Given the description of an element on the screen output the (x, y) to click on. 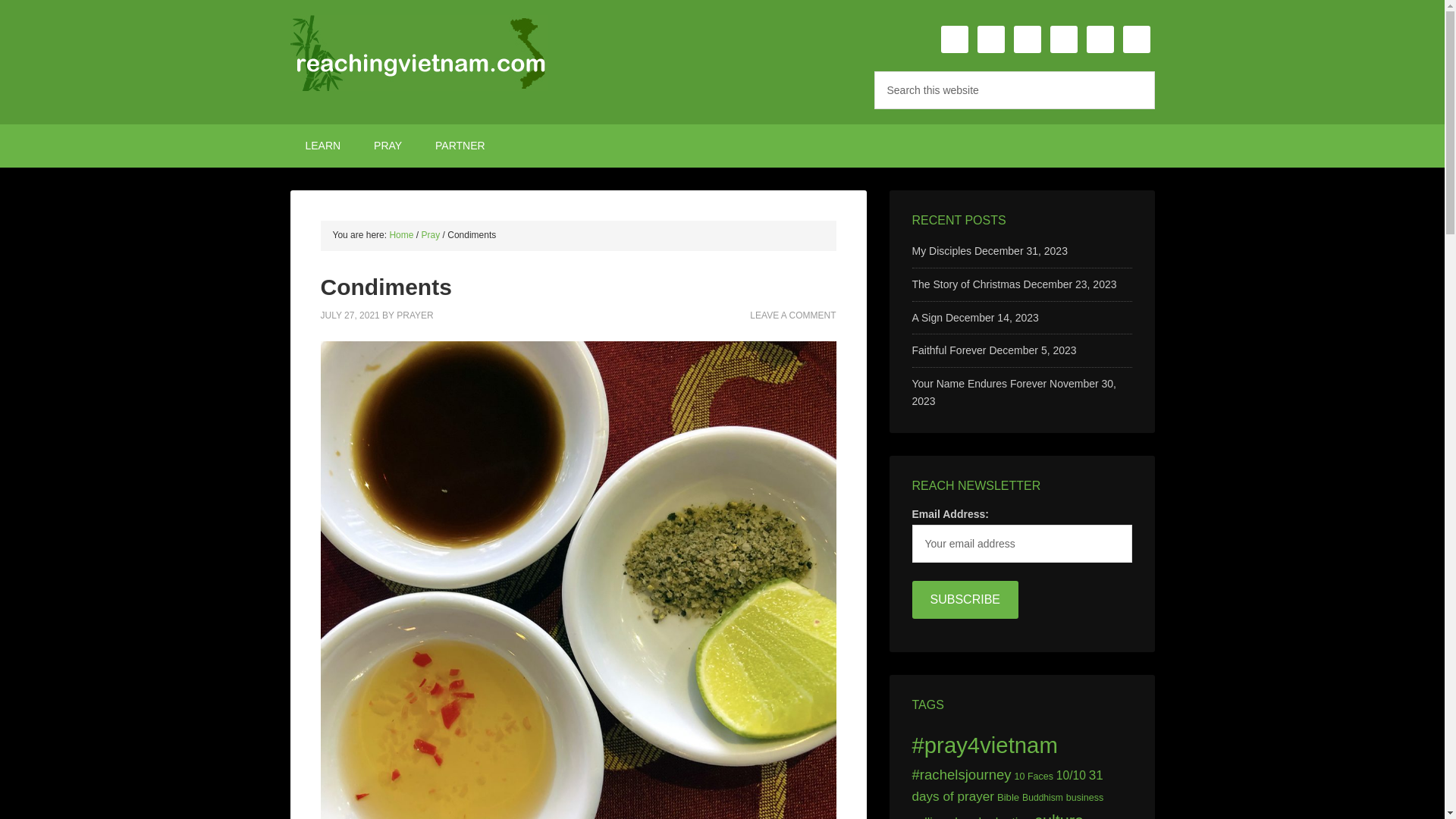
reachingvietnam.com (418, 52)
Subscribe (964, 599)
LEARN (322, 145)
PRAY (387, 145)
